Given the description of an element on the screen output the (x, y) to click on. 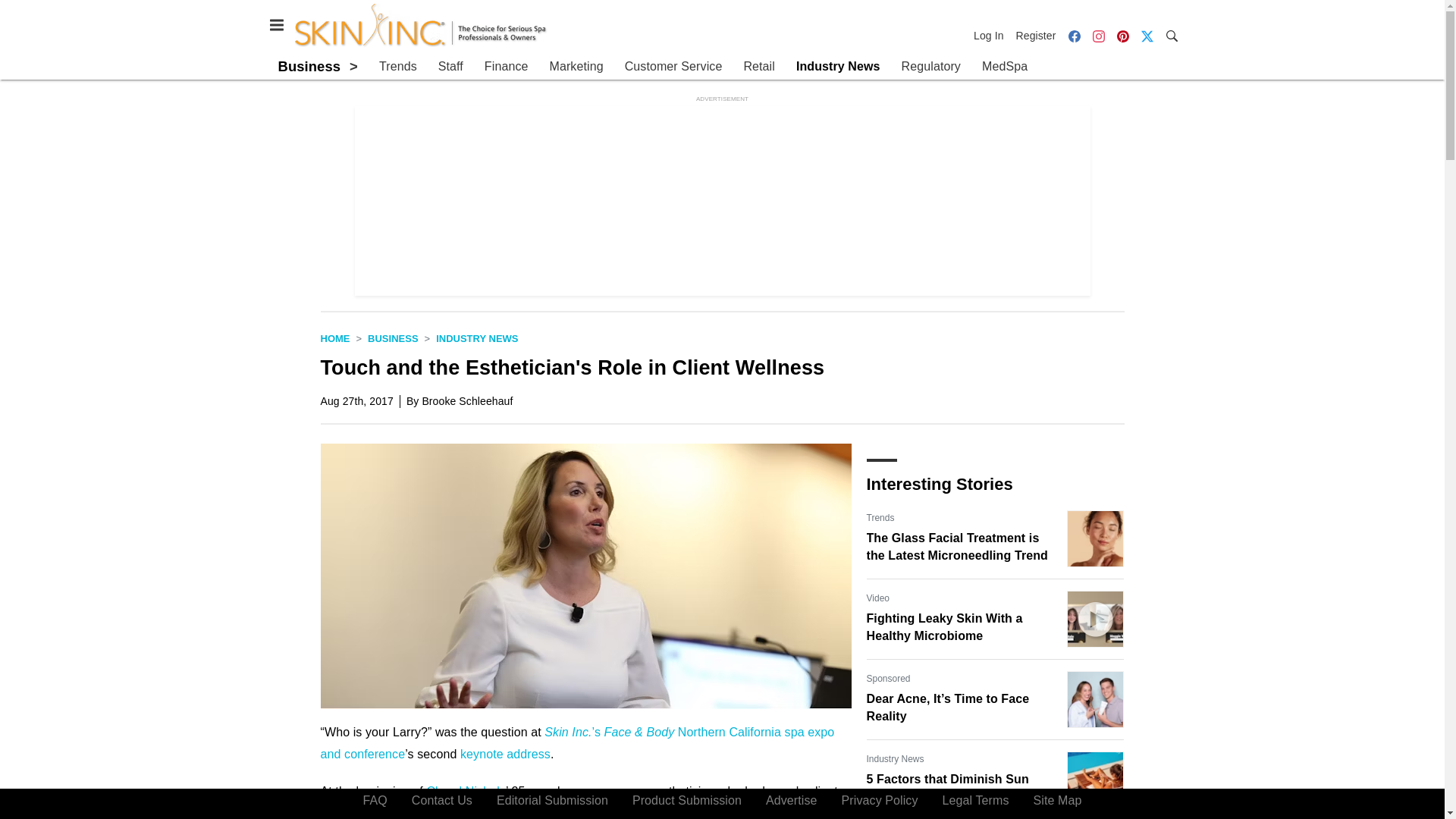
Sponsored (888, 678)
Customer Service (673, 66)
Retail (758, 66)
Business (309, 65)
Instagram icon (1097, 36)
Instagram icon (1097, 35)
Business (392, 337)
Staff (450, 66)
Industry News (838, 66)
Pinterest icon (1121, 35)
Twitter X icon (1146, 35)
Log In (992, 35)
Search (1170, 34)
Facebook icon (1073, 36)
